Given the description of an element on the screen output the (x, y) to click on. 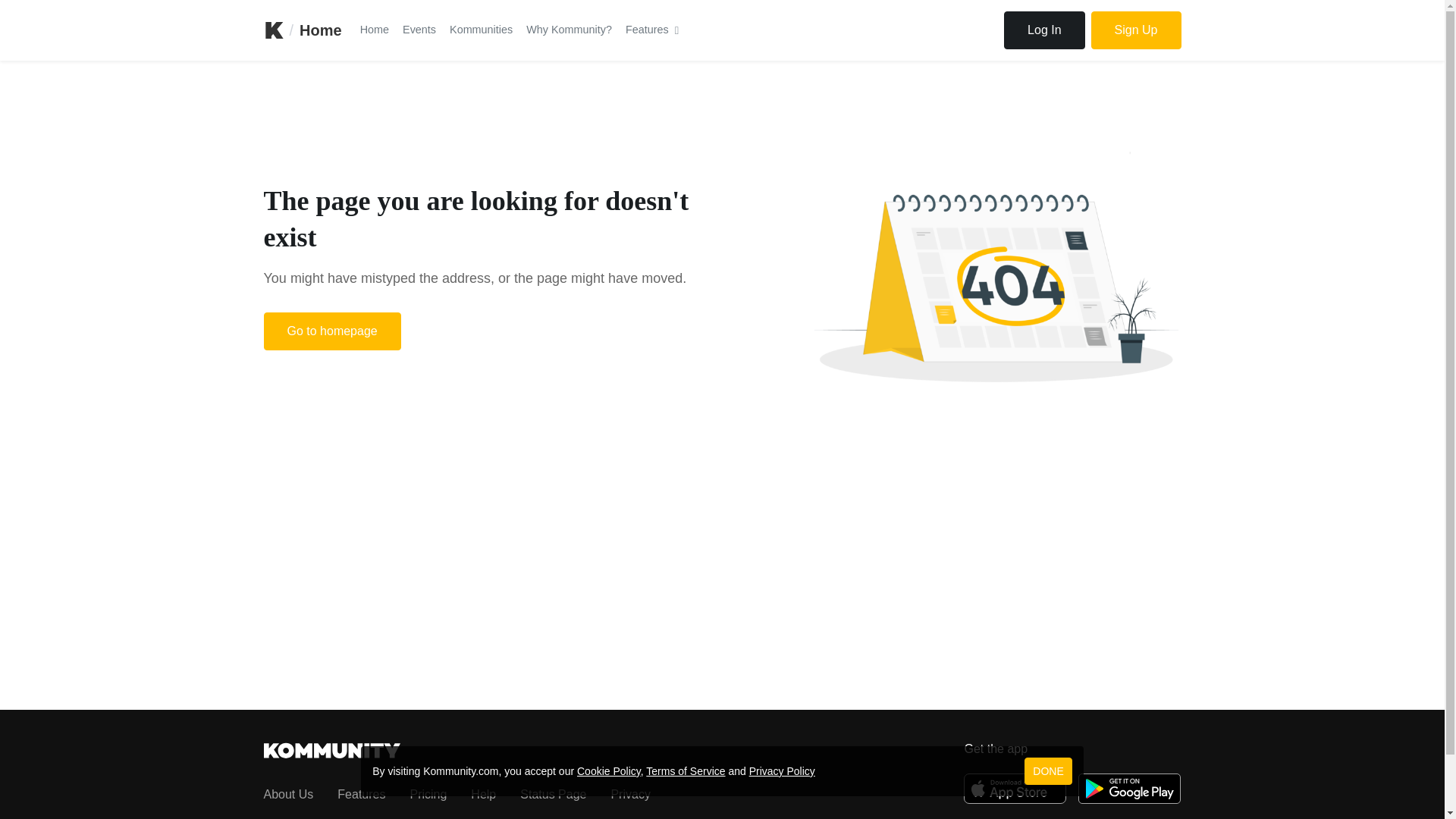
Sign Up (1135, 30)
Log In (1044, 30)
Privacy Policy (782, 770)
Kommunities (480, 29)
Why Kommunity? (568, 29)
About Us (288, 793)
DONE (1048, 770)
Go to homepage (332, 331)
Events (419, 29)
Features (361, 793)
Terms of Service (685, 770)
Status Page (552, 793)
Home (373, 29)
Features (652, 29)
Help (483, 793)
